Given the description of an element on the screen output the (x, y) to click on. 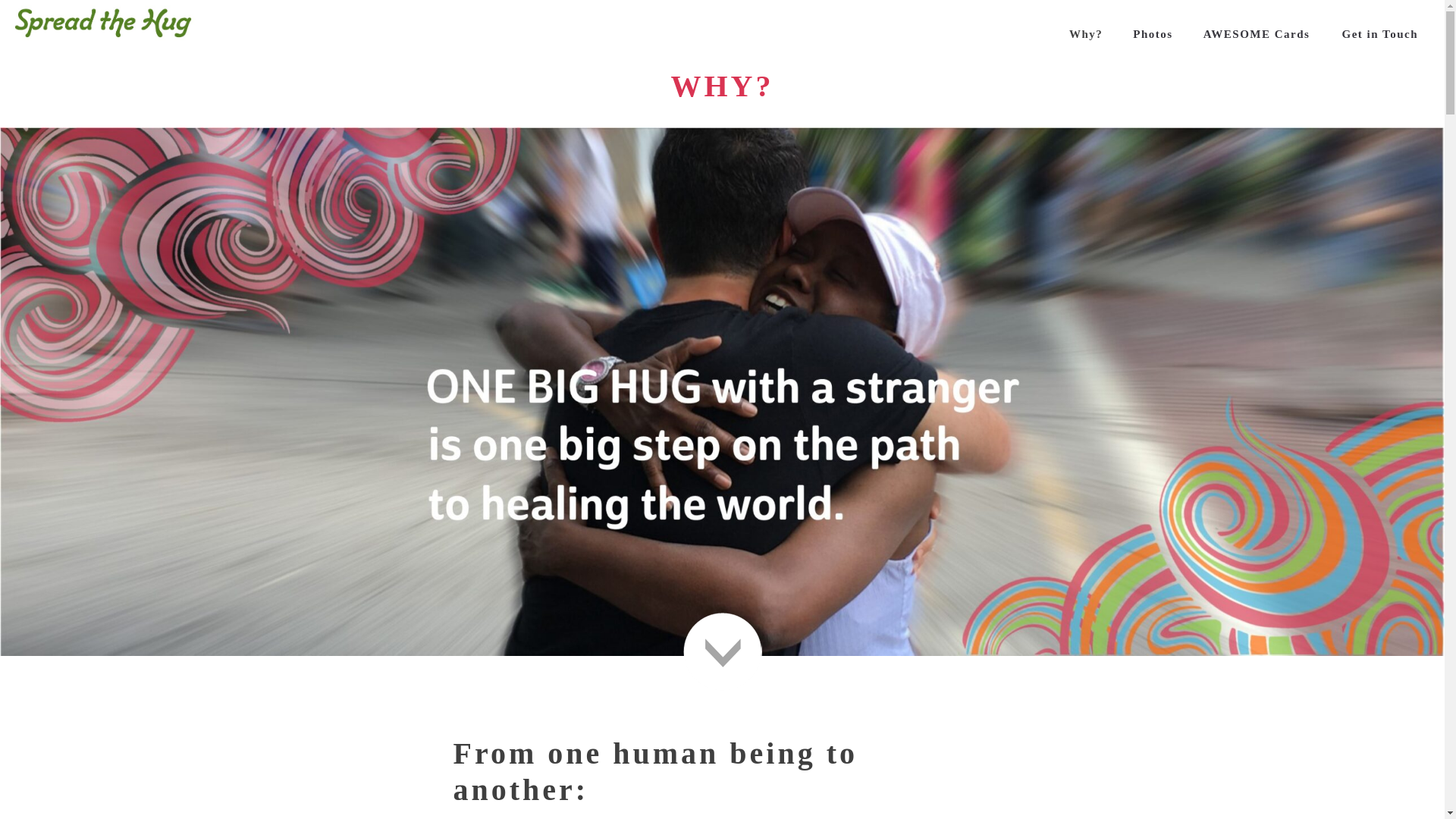
Get in Touch (1379, 33)
Photos (1153, 33)
Why? (1086, 33)
AWESOME Cards (1252, 33)
Banner-Down-Arrow-2 (721, 651)
